Given the description of an element on the screen output the (x, y) to click on. 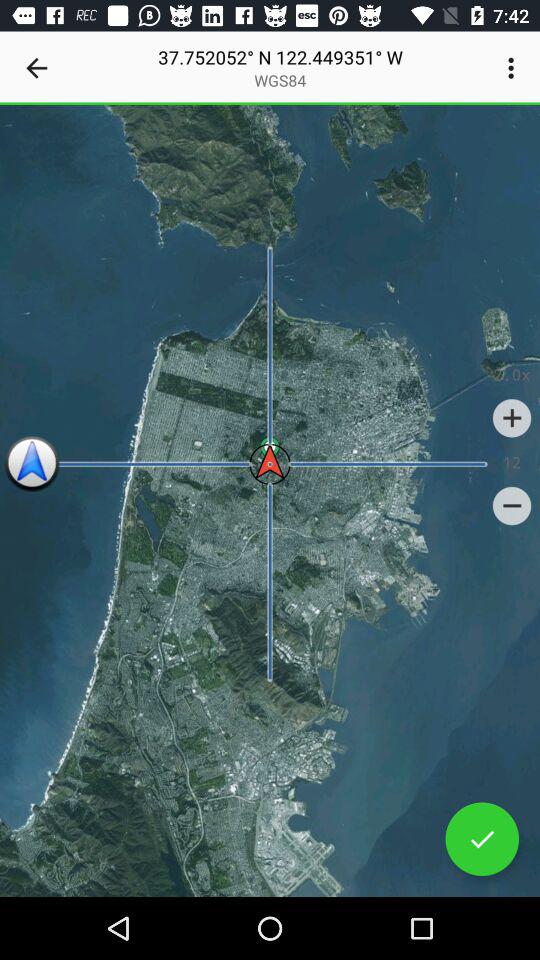
turn off icon on the left (32, 463)
